Given the description of an element on the screen output the (x, y) to click on. 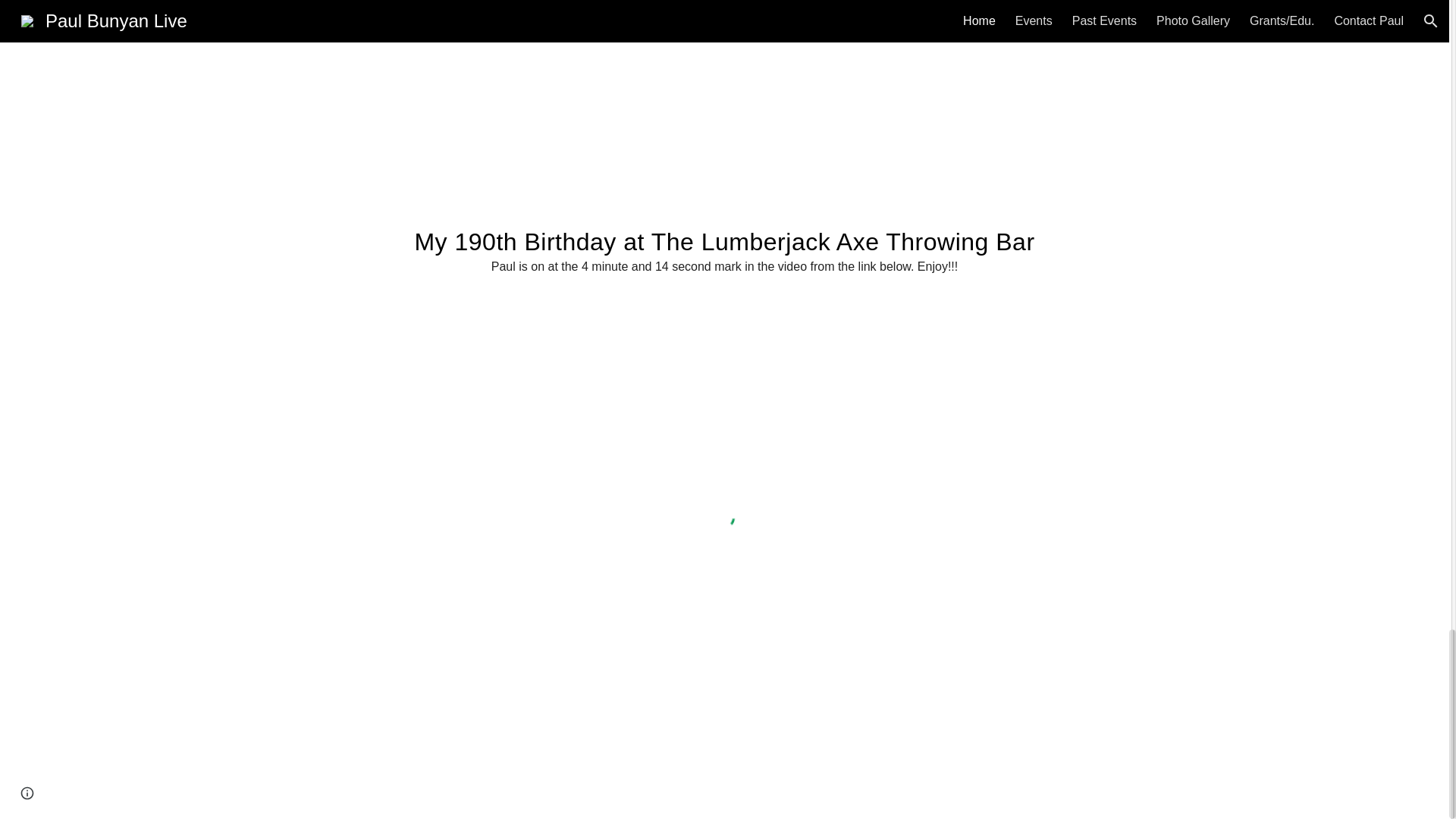
email Paul (776, 766)
